Given the description of an element on the screen output the (x, y) to click on. 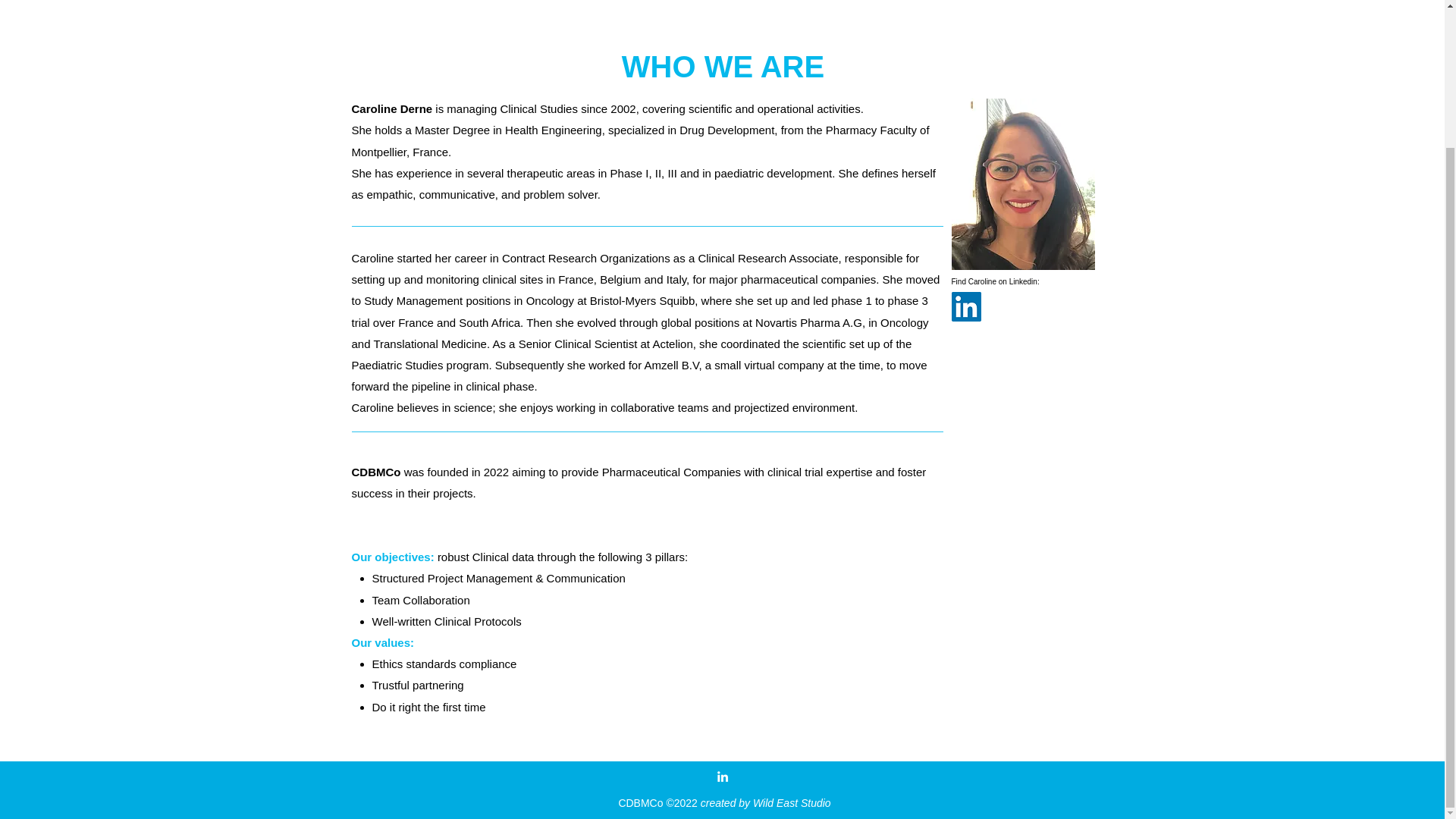
Services (689, 2)
Wild East Studio (791, 802)
Contact (845, 2)
Home (593, 2)
About (638, 2)
Therapeutic Areas (767, 2)
